Given the description of an element on the screen output the (x, y) to click on. 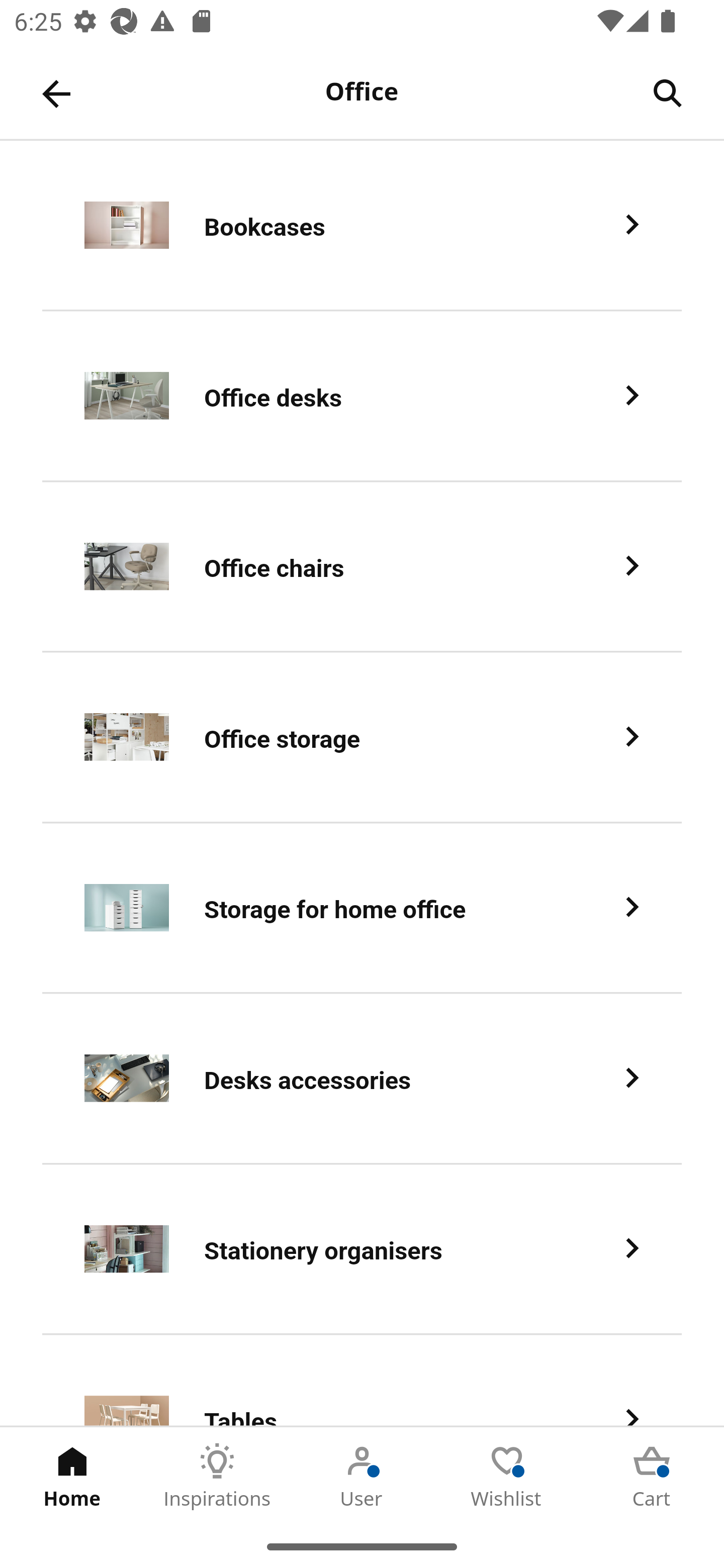
Bookcases (361, 226)
Office desks (361, 396)
Office chairs (361, 566)
Office storage (361, 737)
Storage for home office (361, 908)
Desks accessories (361, 1079)
Stationery organisers (361, 1250)
Home
Tab 1 of 5 (72, 1476)
Inspirations
Tab 2 of 5 (216, 1476)
User
Tab 3 of 5 (361, 1476)
Wishlist
Tab 4 of 5 (506, 1476)
Cart
Tab 5 of 5 (651, 1476)
